Given the description of an element on the screen output the (x, y) to click on. 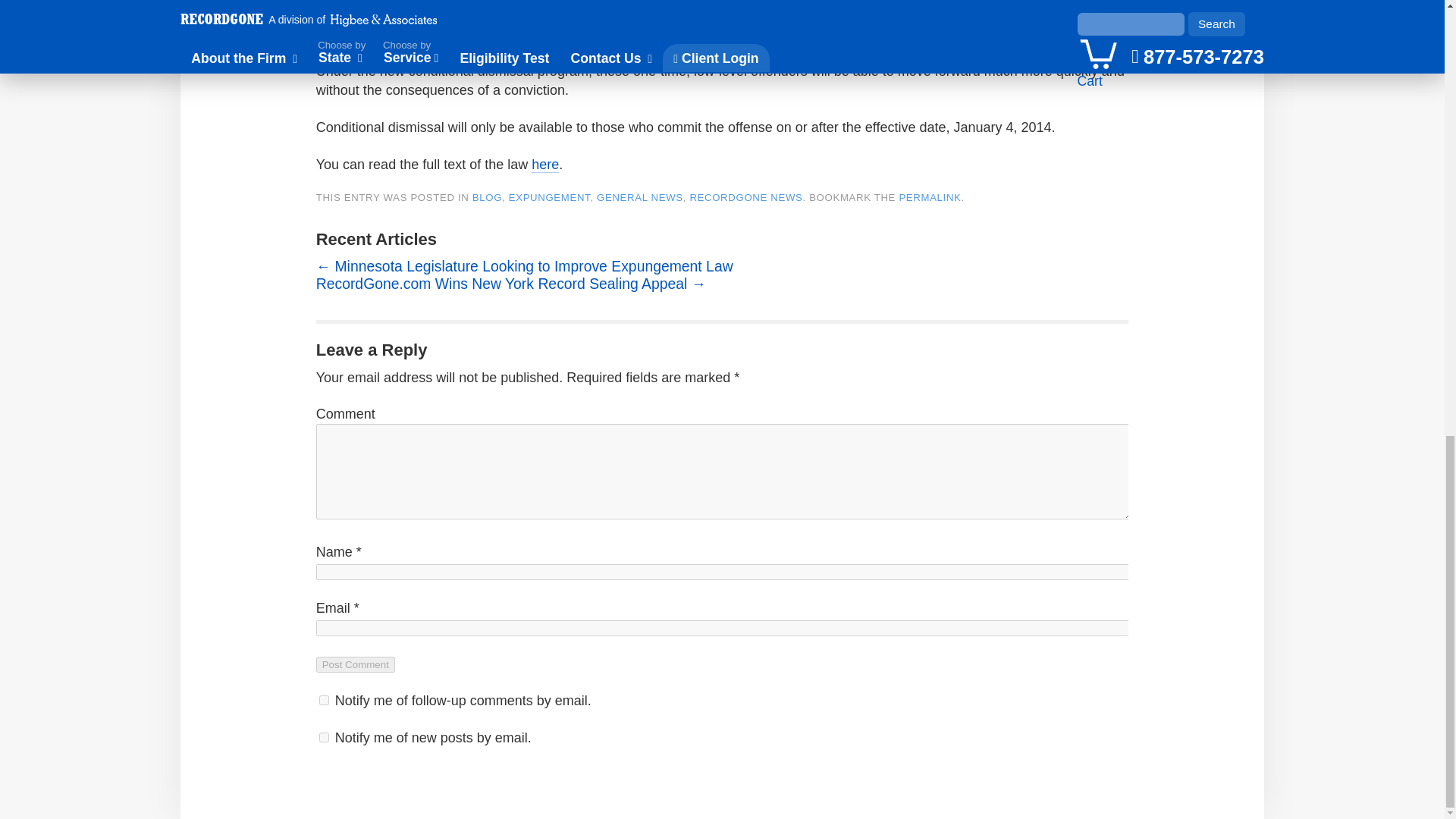
Post Comment (354, 664)
subscribe (323, 737)
subscribe (323, 700)
